Given the description of an element on the screen output the (x, y) to click on. 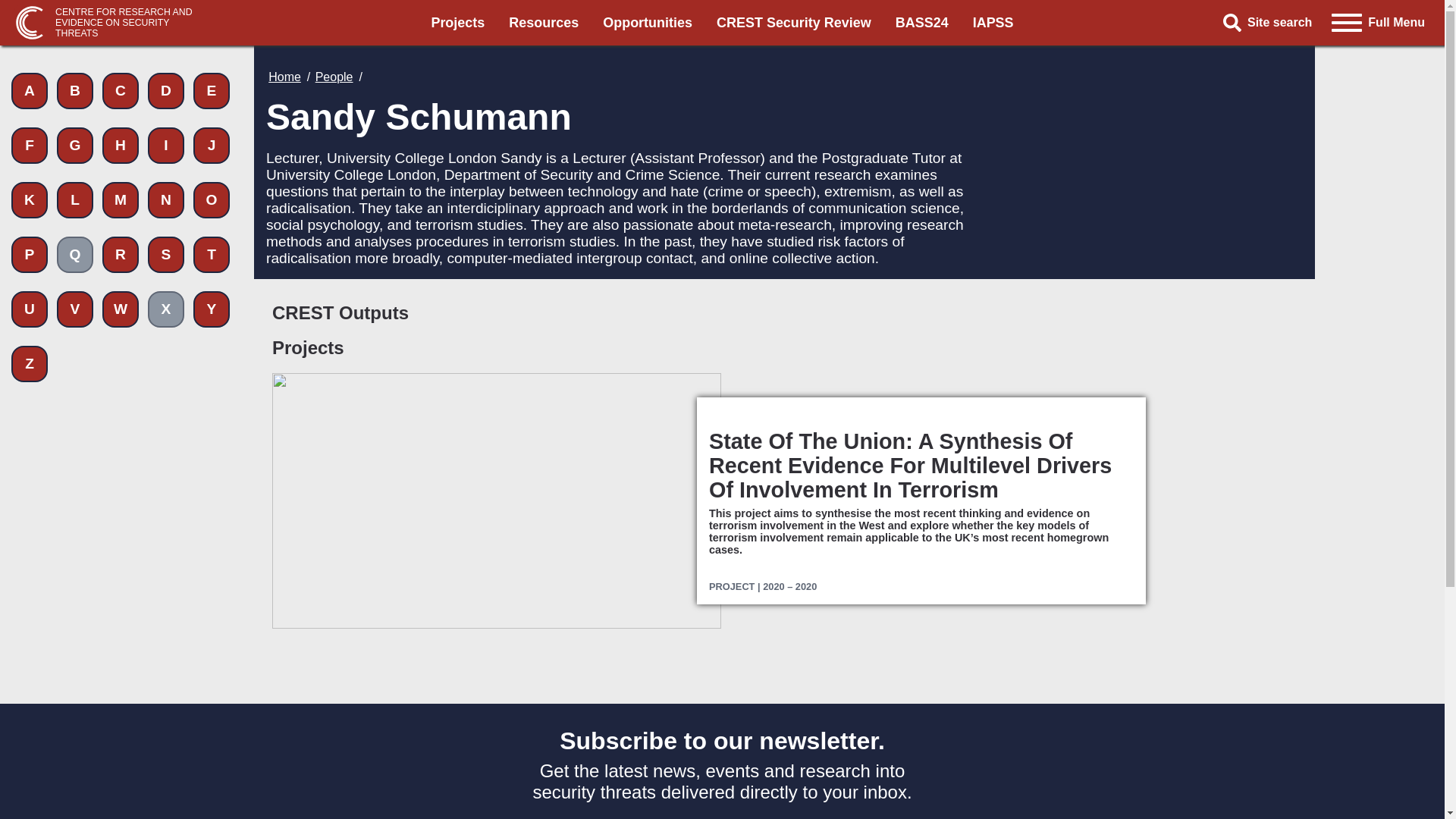
BASS24 (922, 23)
People (334, 76)
S (166, 254)
D (166, 90)
Site search (1273, 22)
W (119, 309)
IAPSS (993, 23)
CREST Security Review (793, 23)
I (166, 145)
L (74, 199)
K (29, 199)
Full Menu (1377, 22)
U (29, 309)
Y (211, 309)
G (74, 145)
